Given the description of an element on the screen output the (x, y) to click on. 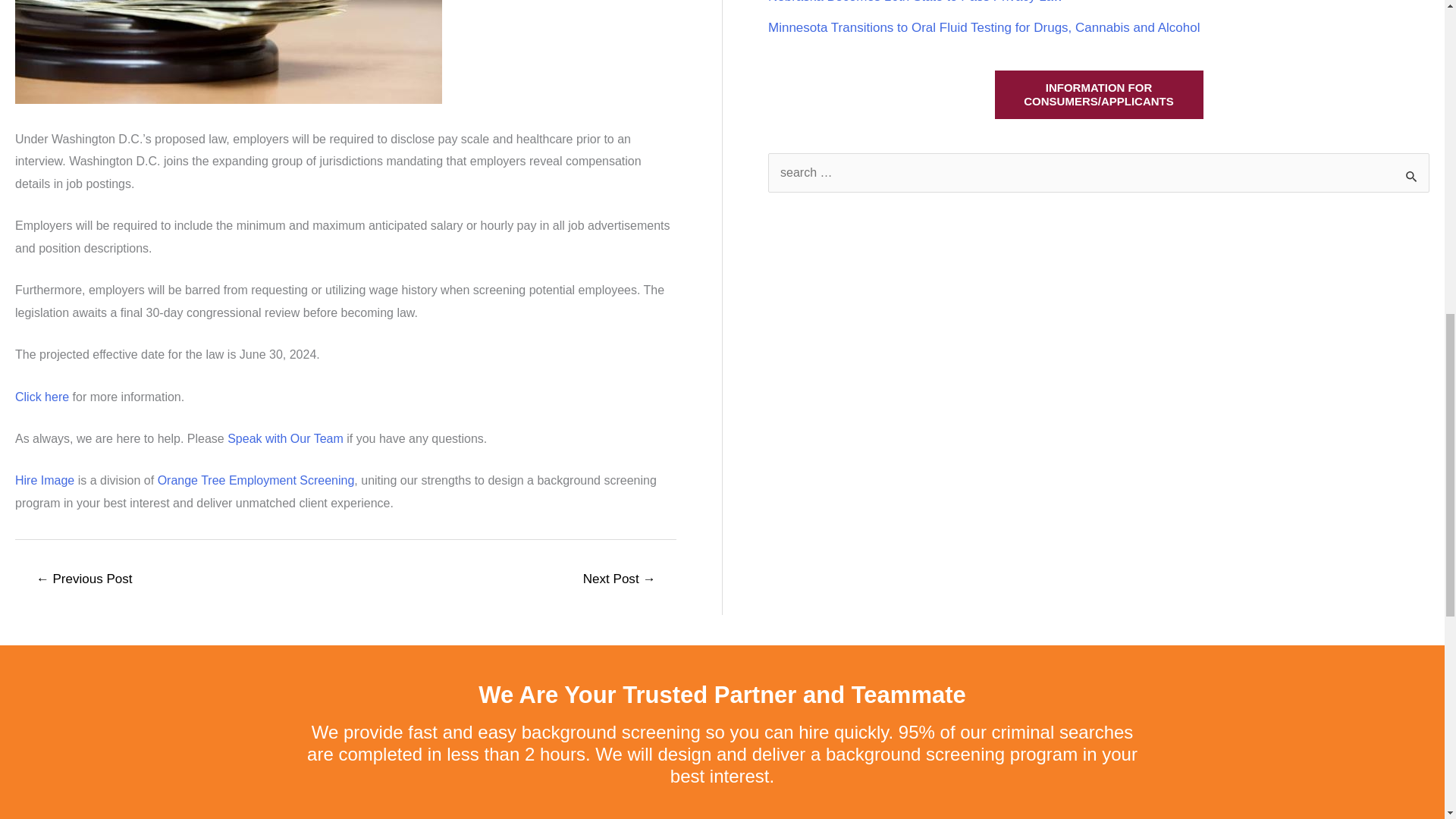
Search (1411, 174)
Search (1411, 174)
